Given the description of an element on the screen output the (x, y) to click on. 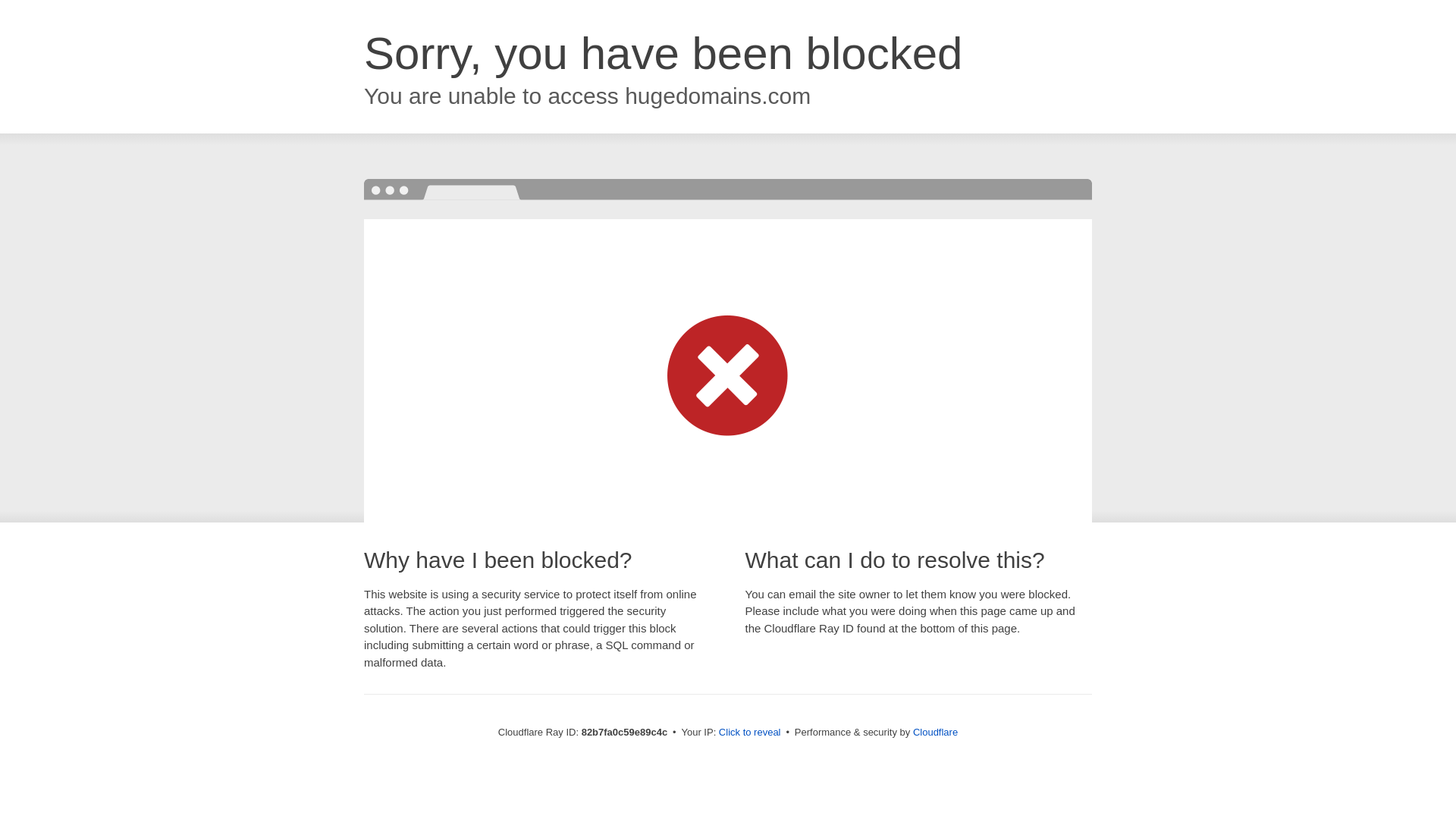
Click to reveal Element type: text (749, 732)
Cloudflare Element type: text (935, 731)
